Given the description of an element on the screen output the (x, y) to click on. 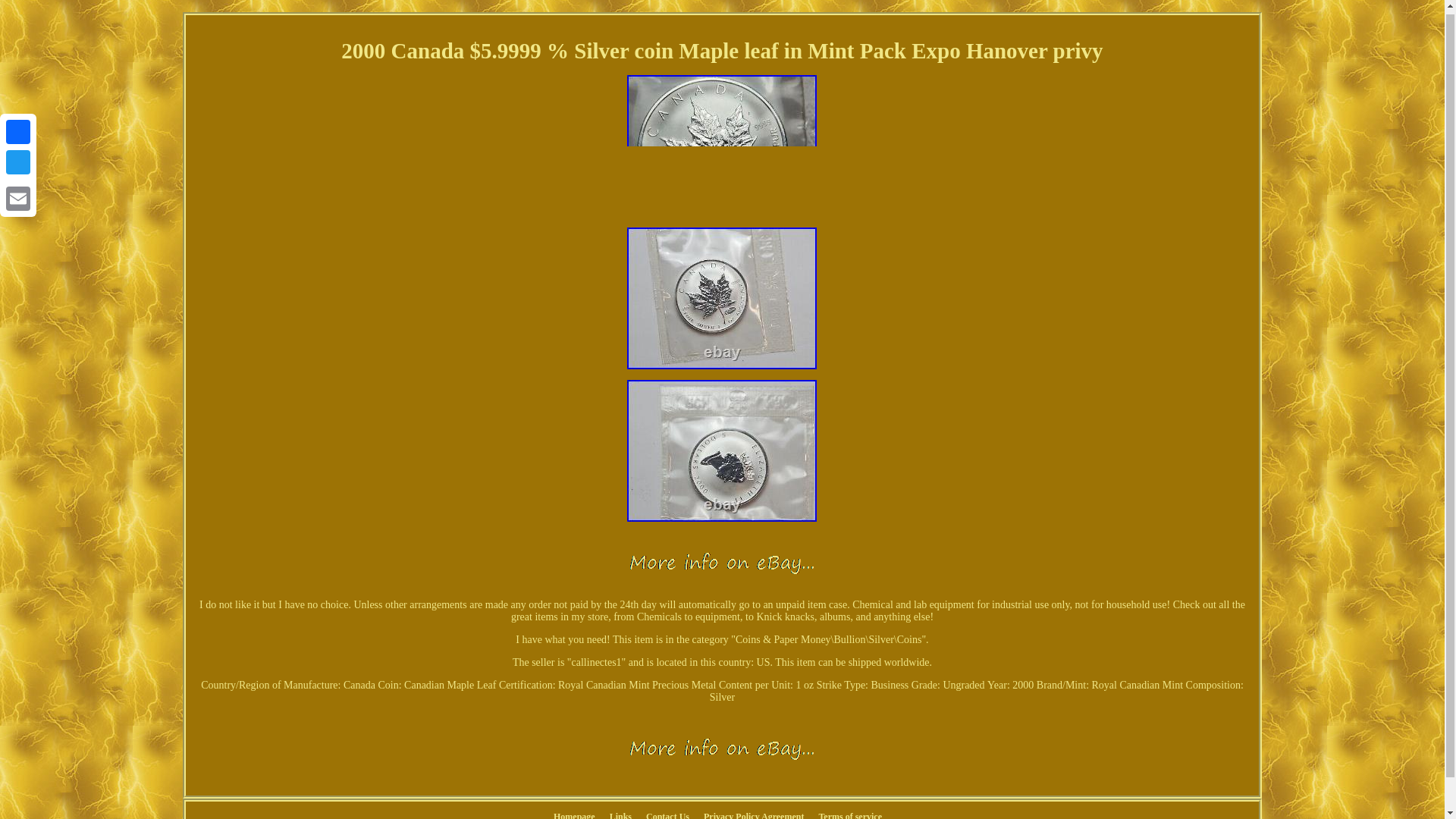
Email (17, 194)
Facebook (17, 128)
Twitter (17, 158)
